Given the description of an element on the screen output the (x, y) to click on. 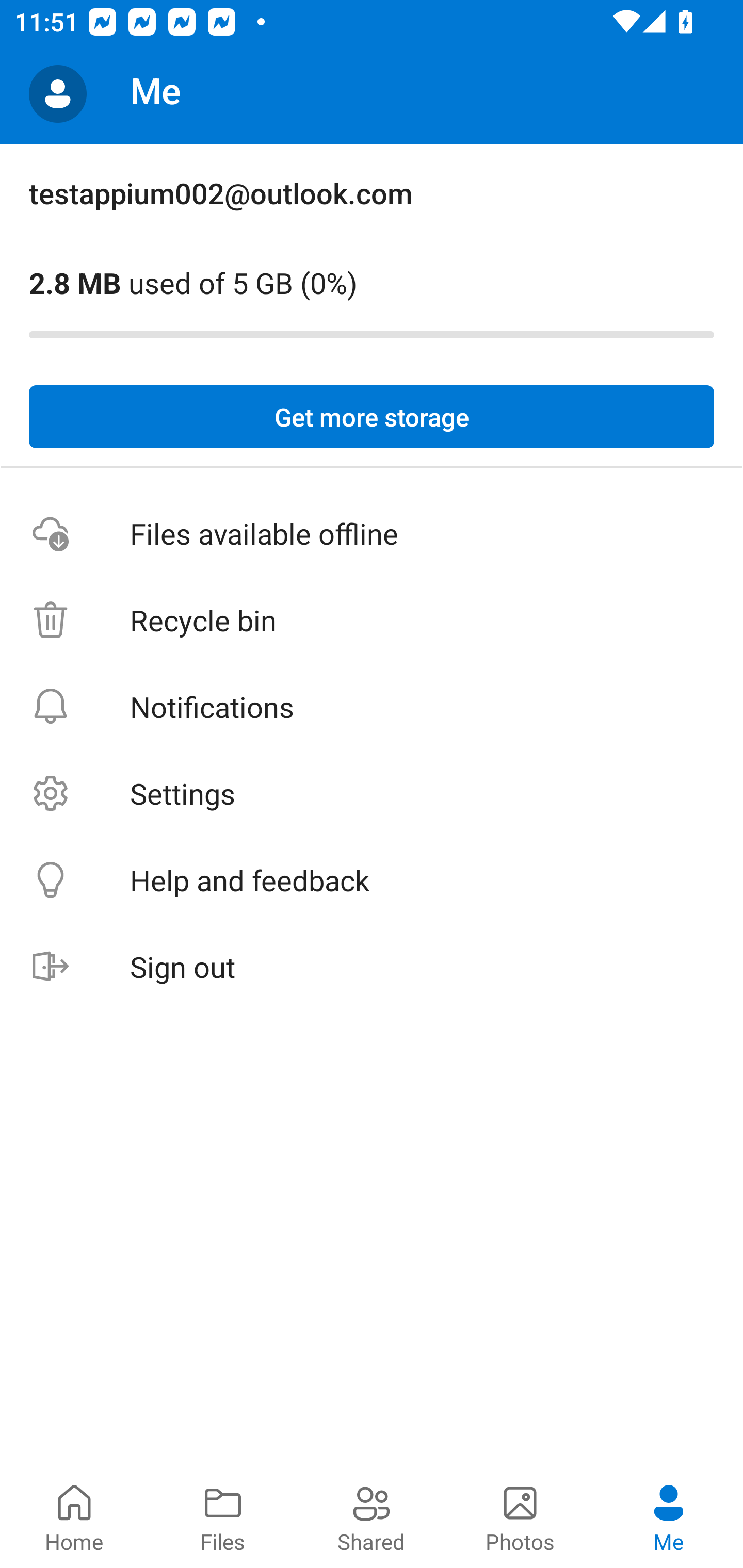
Account switcher (57, 93)
Get more storage (371, 416)
Files available offline (371, 533)
Recycle bin (371, 620)
Notifications (371, 706)
Settings (371, 793)
Help and feedback (371, 880)
Sign out (371, 966)
Home pivot Home (74, 1517)
Files pivot Files (222, 1517)
Shared pivot Shared (371, 1517)
Photos pivot Photos (519, 1517)
